Given the description of an element on the screen output the (x, y) to click on. 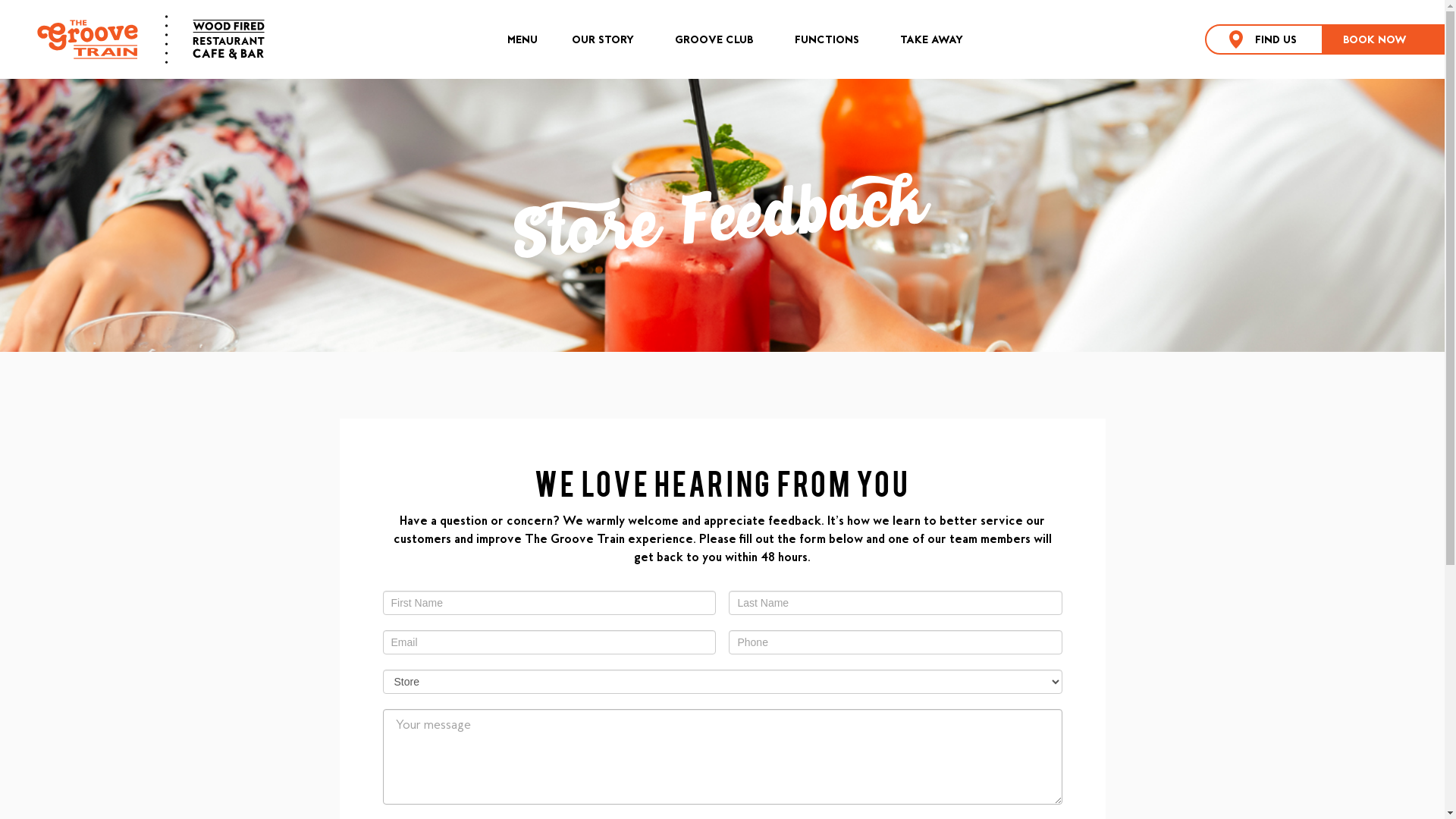
FIND US Element type: text (1263, 39)
TAKE AWAY Element type: text (930, 39)
BOOK NOW Element type: text (1383, 39)
FUNCTIONS Element type: text (826, 39)
MENU Element type: text (521, 39)
OUR STORY Element type: text (602, 39)
GROOVE CLUB Element type: text (713, 39)
